Given the description of an element on the screen output the (x, y) to click on. 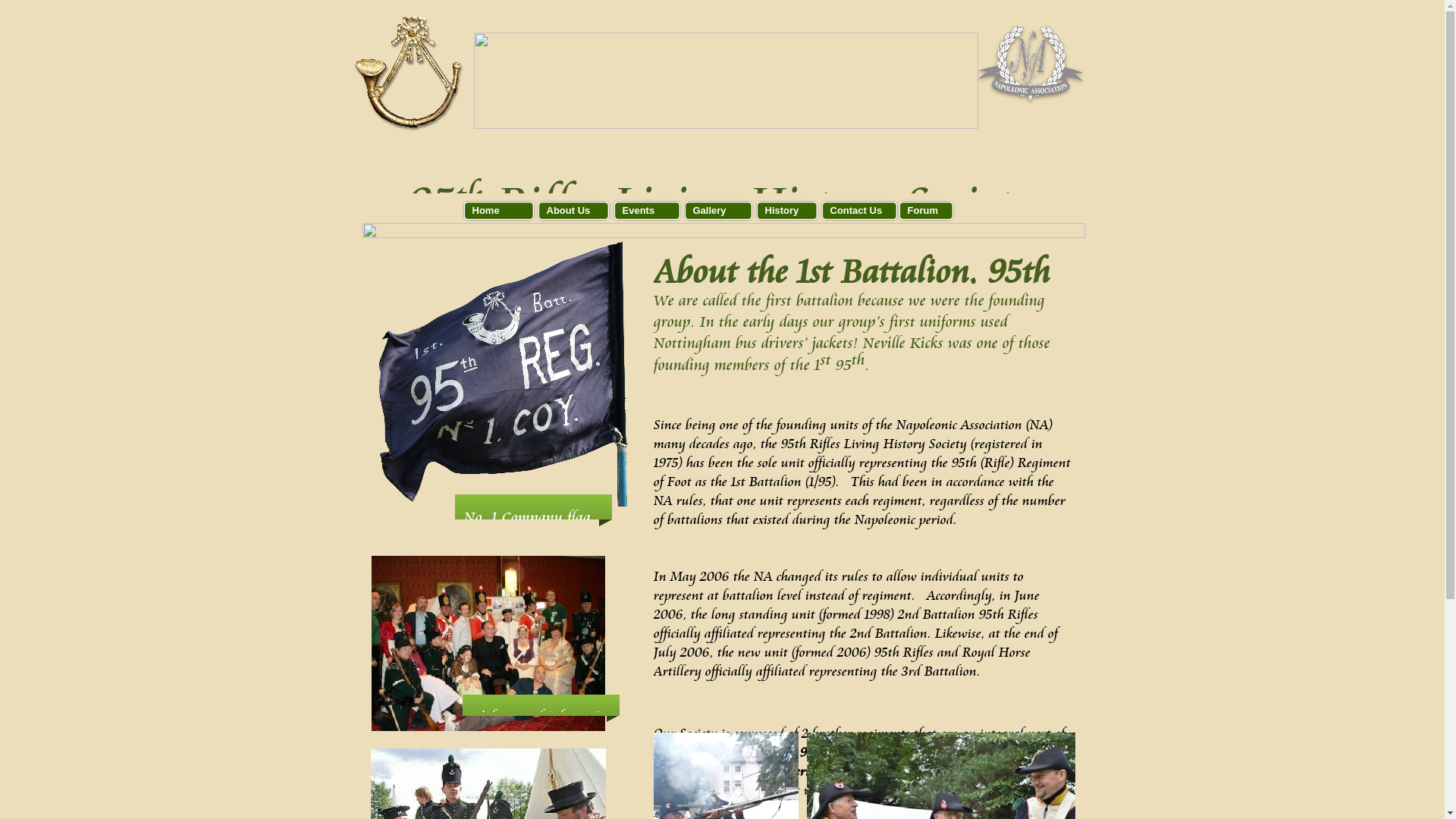
Gallery Element type: text (718, 210)
Events Element type: text (646, 210)
History Element type: text (786, 210)
Home Element type: text (498, 210)
Forum Element type: text (925, 210)
Contact Us Element type: text (858, 210)
About Us Element type: text (572, 210)
